Given the description of an element on the screen output the (x, y) to click on. 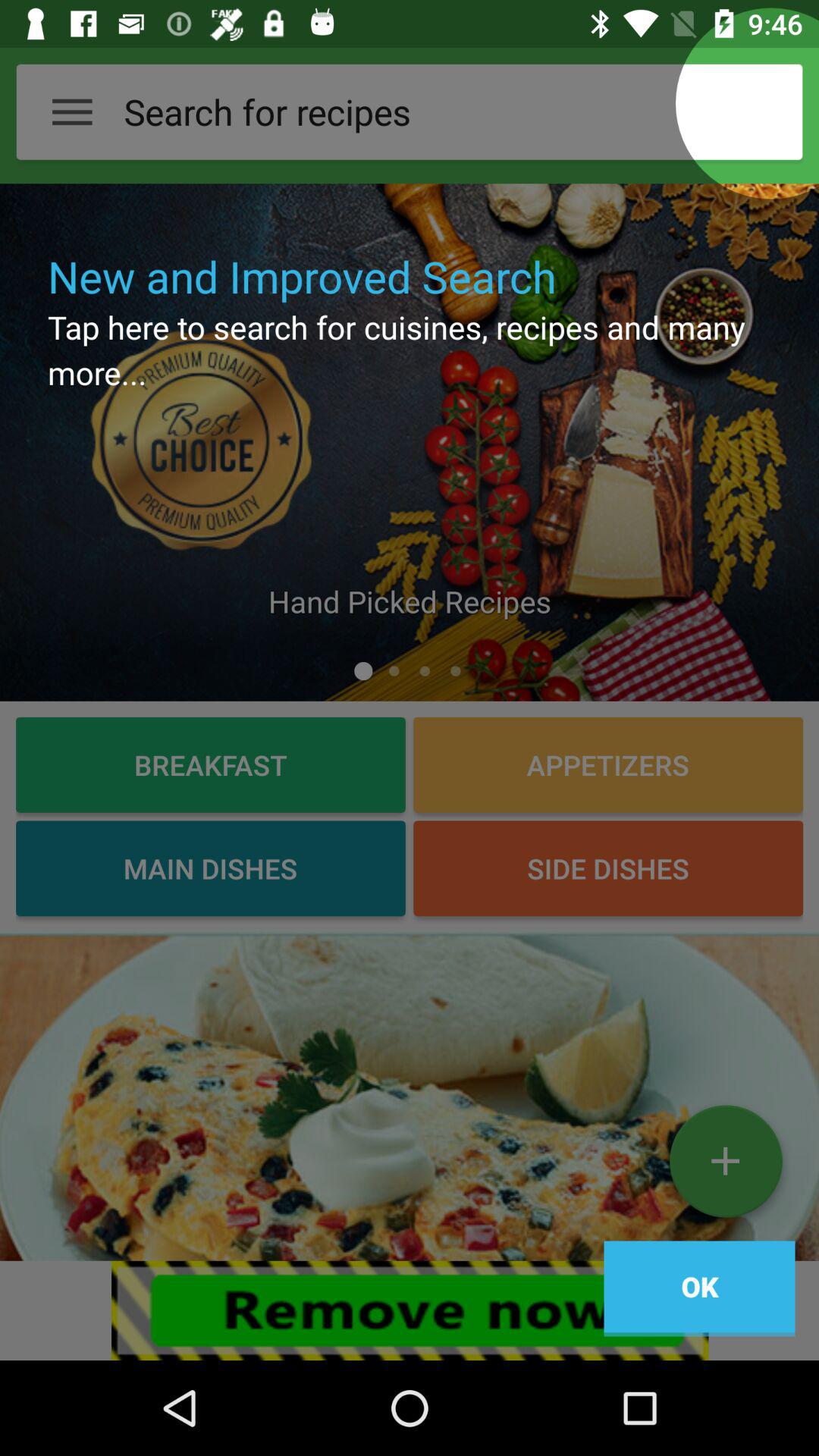
more option (725, 1167)
